Given the description of an element on the screen output the (x, y) to click on. 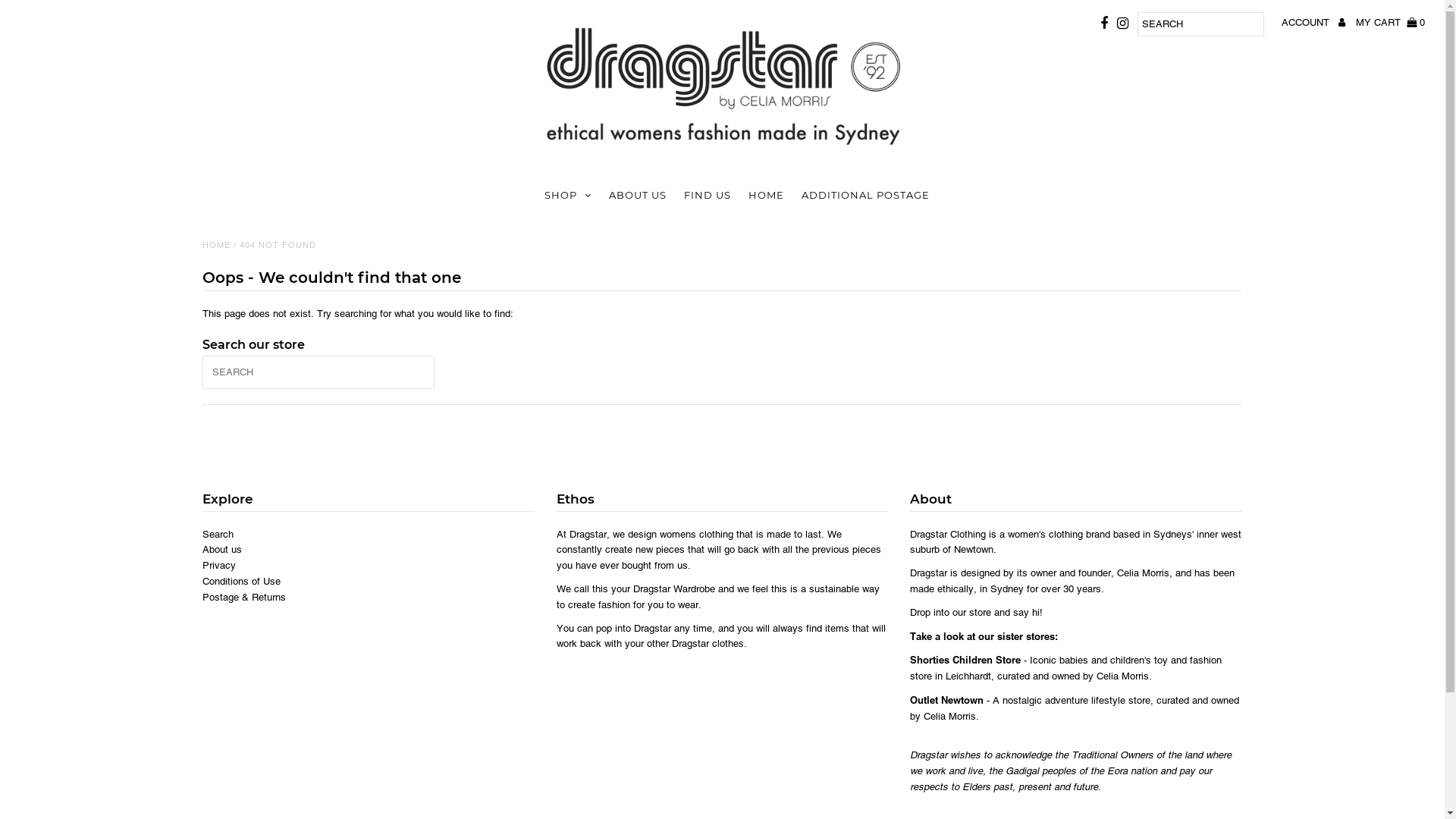
Outlet Newtown Element type: text (946, 700)
ADDITIONAL POSTAGE Element type: text (865, 194)
Conditions of Use Element type: text (241, 580)
Postage & Returns Element type: text (243, 596)
About us Element type: text (221, 549)
Privacy Element type: text (218, 565)
ABOUT US Element type: text (637, 194)
HOME Element type: text (765, 194)
Shorties Children Store Element type: text (965, 659)
HOME Element type: text (216, 244)
FIND US Element type: text (707, 194)
Search Element type: text (217, 533)
SHOP Element type: text (567, 195)
MY CART 0 Element type: text (1389, 23)
ACCOUNT Element type: text (1313, 23)
